Given the description of an element on the screen output the (x, y) to click on. 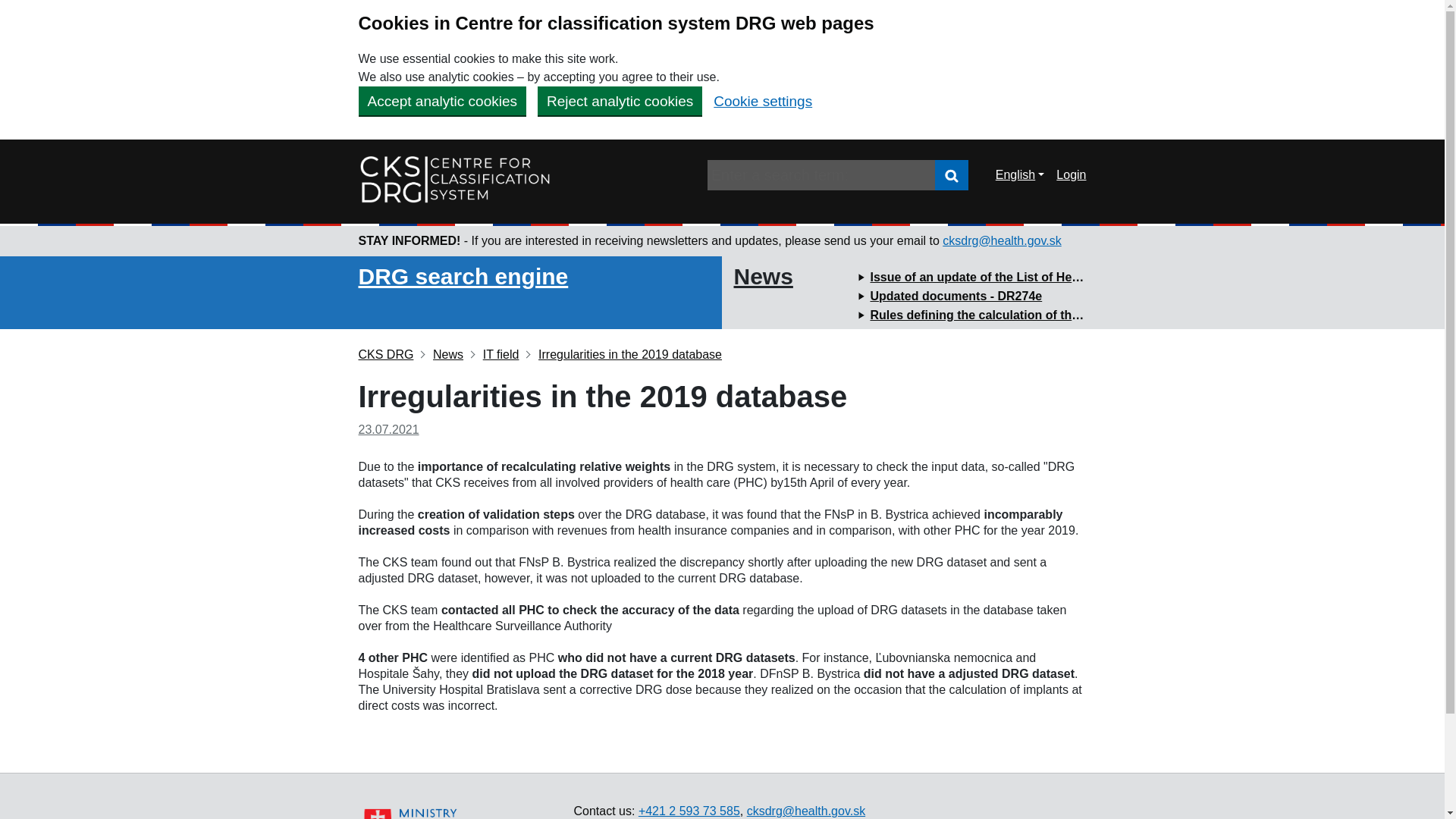
IT field (494, 354)
News (441, 354)
Accept analytic cookies (441, 100)
English (1020, 175)
Cookie settings (762, 101)
News (763, 276)
Irregularities in the 2019 database (623, 354)
Irregularities in the 2019 database (623, 354)
Login (951, 174)
